Given the description of an element on the screen output the (x, y) to click on. 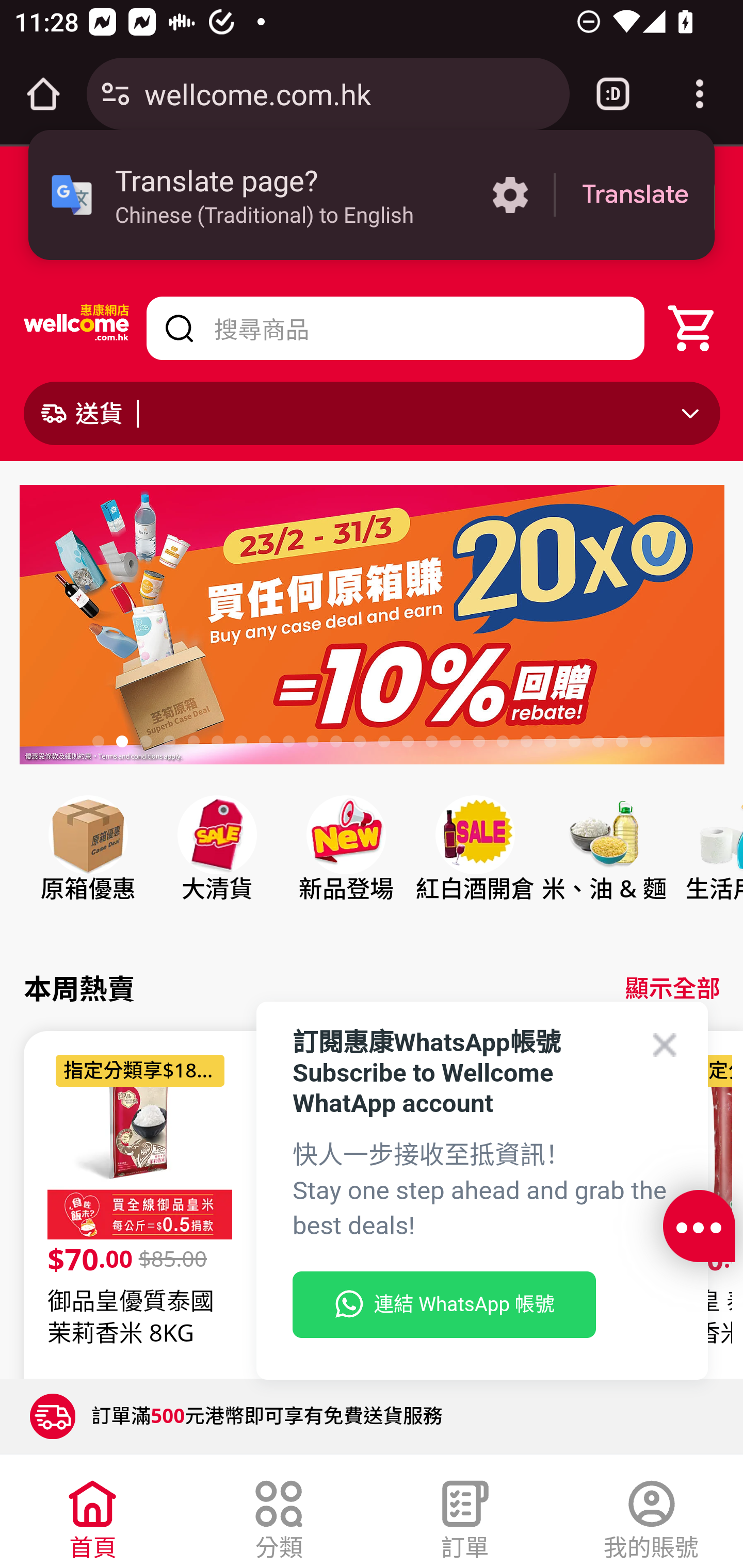
Open the home page (43, 93)
Connection is secure (115, 93)
Switch or close tabs (612, 93)
Customize and control Google Chrome (699, 93)
wellcome.com.hk (349, 92)
Translate (634, 195)
More options in the Translate page? (509, 195)
關閉 (196, 207)
superwebShopLogo.3b0eb27 (77, 328)
gIlzHcPGMZ d9f5387c-79ae-4513-9f58-167857f314aa_ (371, 628)
原箱優惠 d10f707e-149a-4982-83eb-a14dff1023b9_ 原箱優惠 (88, 866)
大清貨 fb3d2098-2b71-4a22-8b7a-8564a484a8d9_ 大清貨 (217, 866)
新品登場 f53d076d-b18e-4ef9-af9c-a2174ee44d64_ 新品登場 (346, 866)
紅白酒開倉 d20d092c-bb77-4b6f-874c-2e8460a48e51_ 紅白酒開倉 (474, 866)
顯示全部 (671, 988)
javascript:; (699, 1226)
連結 WhatsApp 帳號 (443, 1305)
首頁 (92, 1515)
分類 (278, 1515)
訂單 (464, 1515)
我的賬號 (650, 1515)
